Given the description of an element on the screen output the (x, y) to click on. 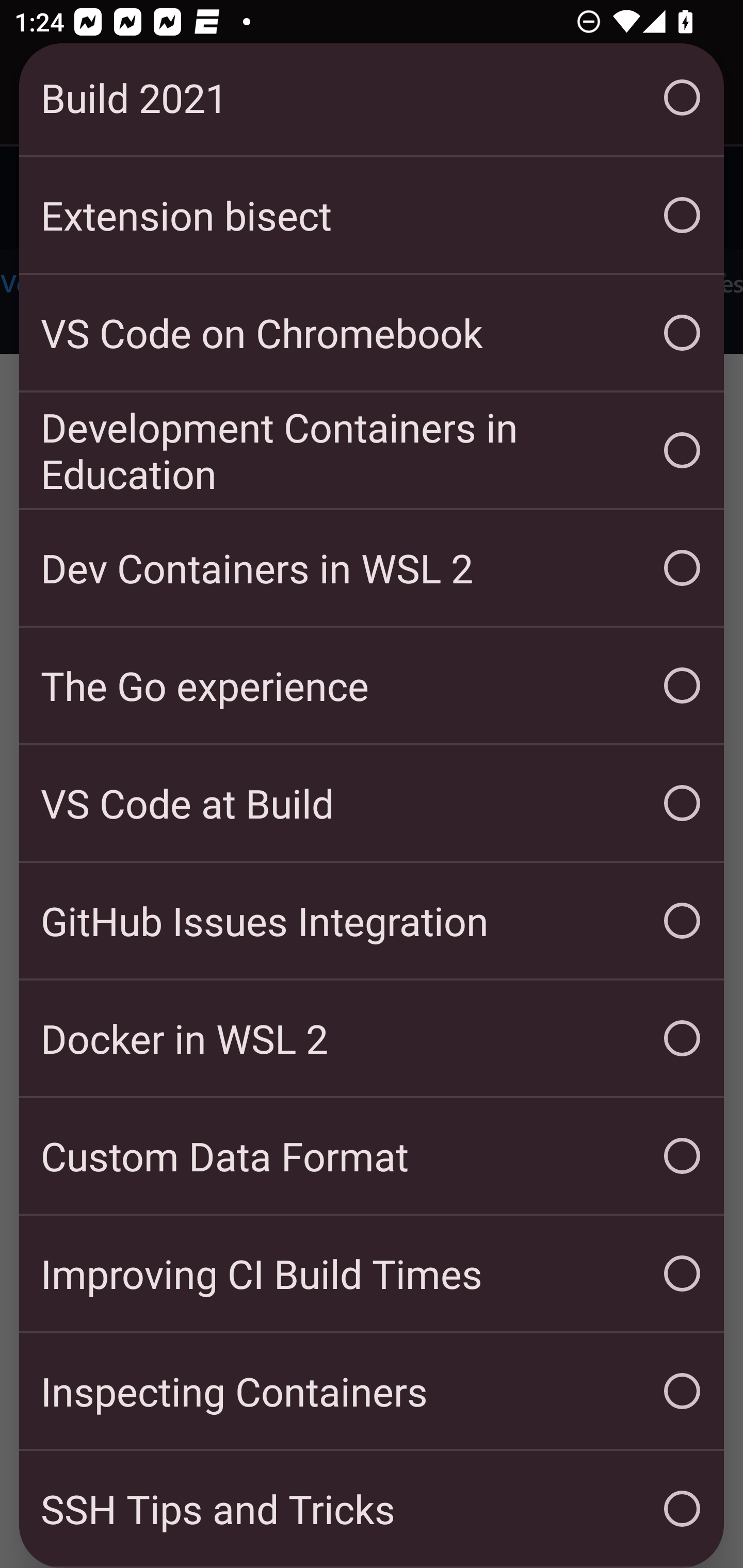
Build 2021 (371, 99)
Extension bisect (371, 214)
VS Code on Chromebook (371, 332)
Development Containers in Education (371, 450)
Dev Containers in WSL 2 (371, 567)
The Go experience (371, 685)
VS Code at Build (371, 802)
GitHub Issues Integration (371, 920)
Docker in WSL 2 (371, 1038)
Custom Data Format (371, 1155)
Improving CI Build Times (371, 1273)
Inspecting Containers (371, 1390)
SSH Tips and Tricks (371, 1508)
